Given the description of an element on the screen output the (x, y) to click on. 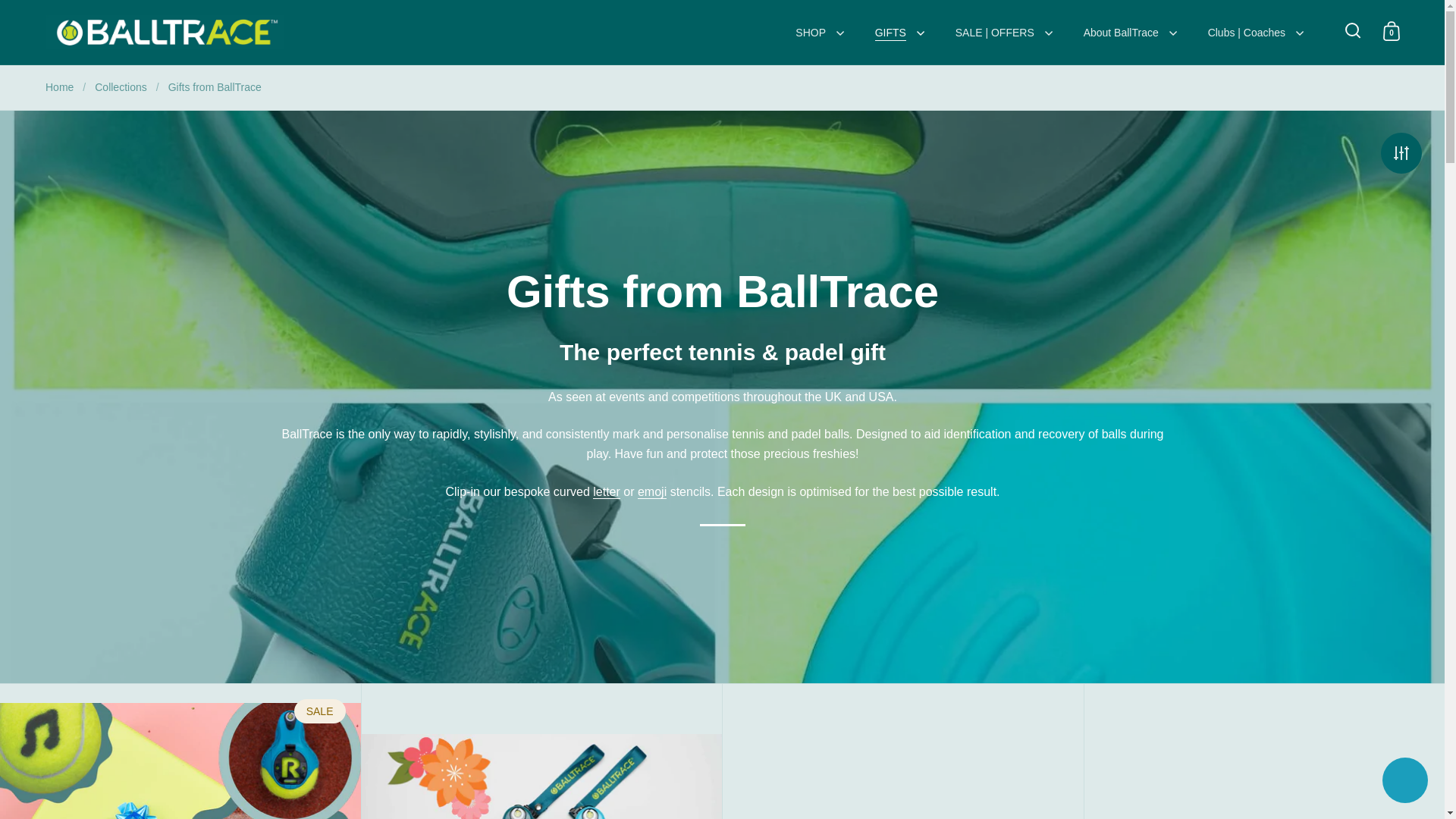
Shopify online store chat (1404, 781)
About BallTrace (1130, 31)
A-Z stencils for BallTrace Tennis Ball Marker (606, 491)
Emoji stencils for BallTrace Tennis Ball Marker (651, 491)
GIFTS (900, 31)
Open search (1353, 30)
SHOP (819, 31)
Open cart (1390, 30)
